Given the description of an element on the screen output the (x, y) to click on. 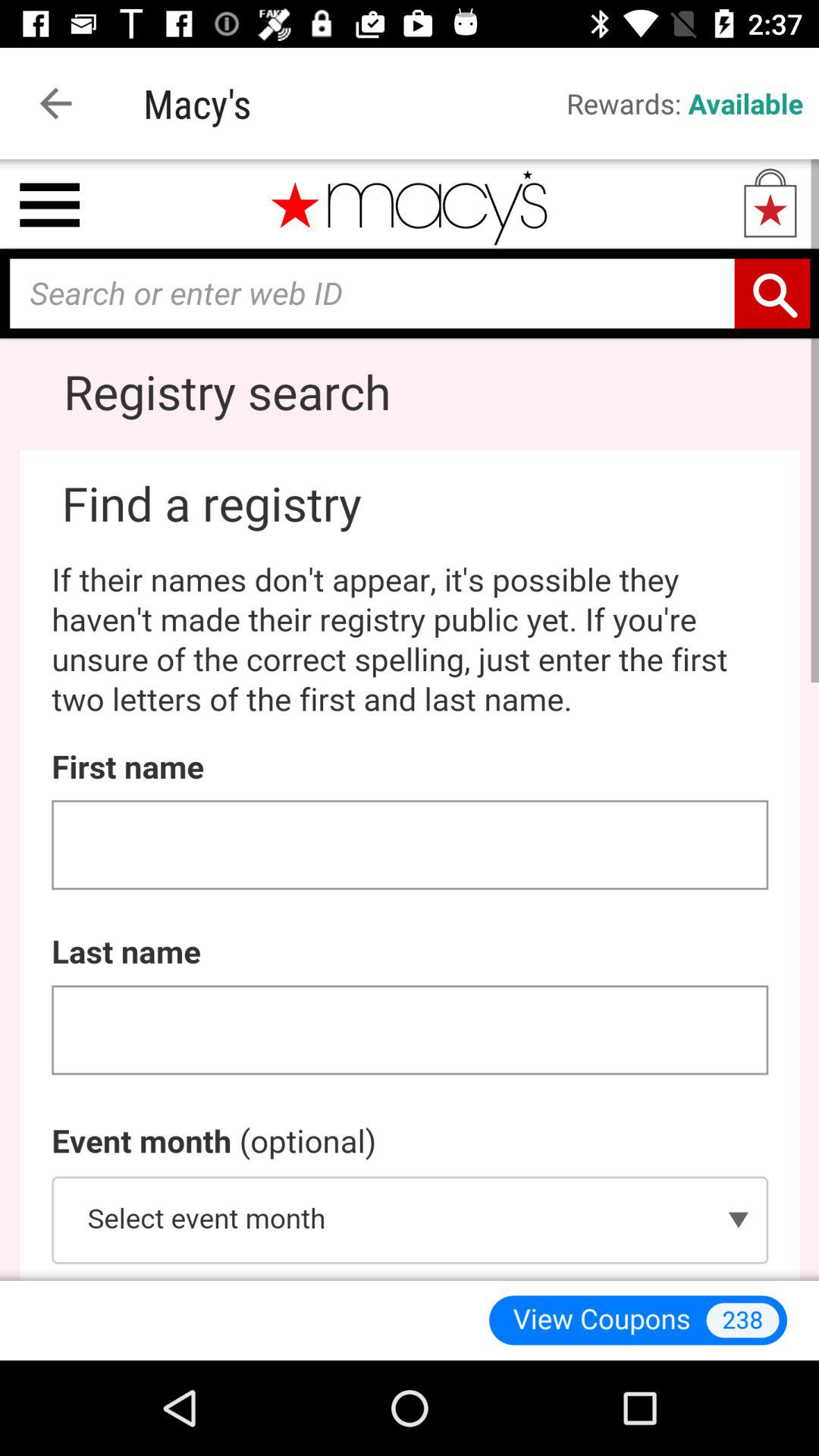
register option (409, 719)
